Given the description of an element on the screen output the (x, y) to click on. 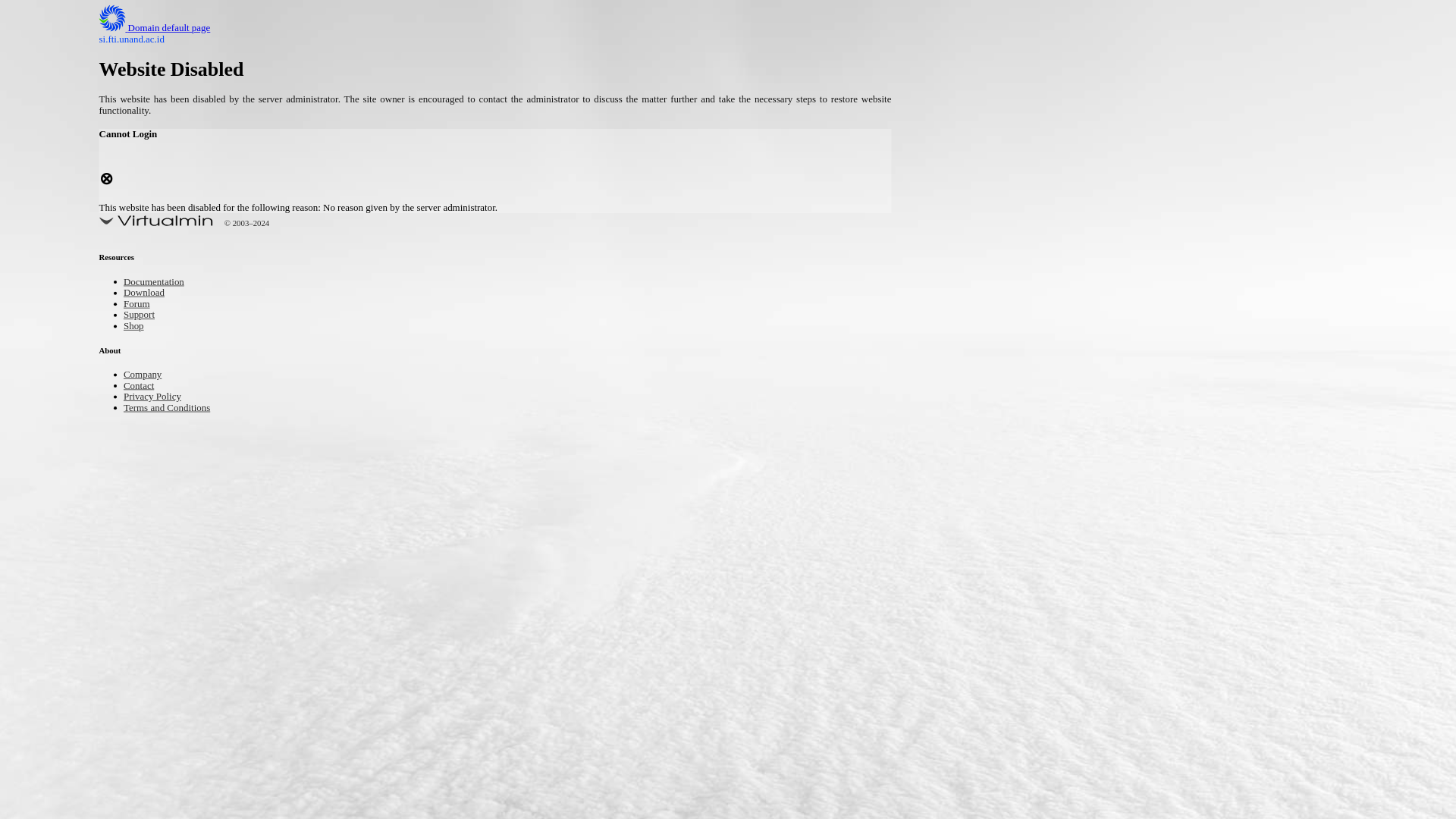
Domain default page (167, 29)
Company (146, 374)
Documentation (160, 282)
Privacy Policy (159, 397)
Terms and Conditions (176, 408)
Forum (139, 305)
Download (148, 293)
Shop (135, 327)
Contact (142, 386)
Support (142, 315)
